Given the description of an element on the screen output the (x, y) to click on. 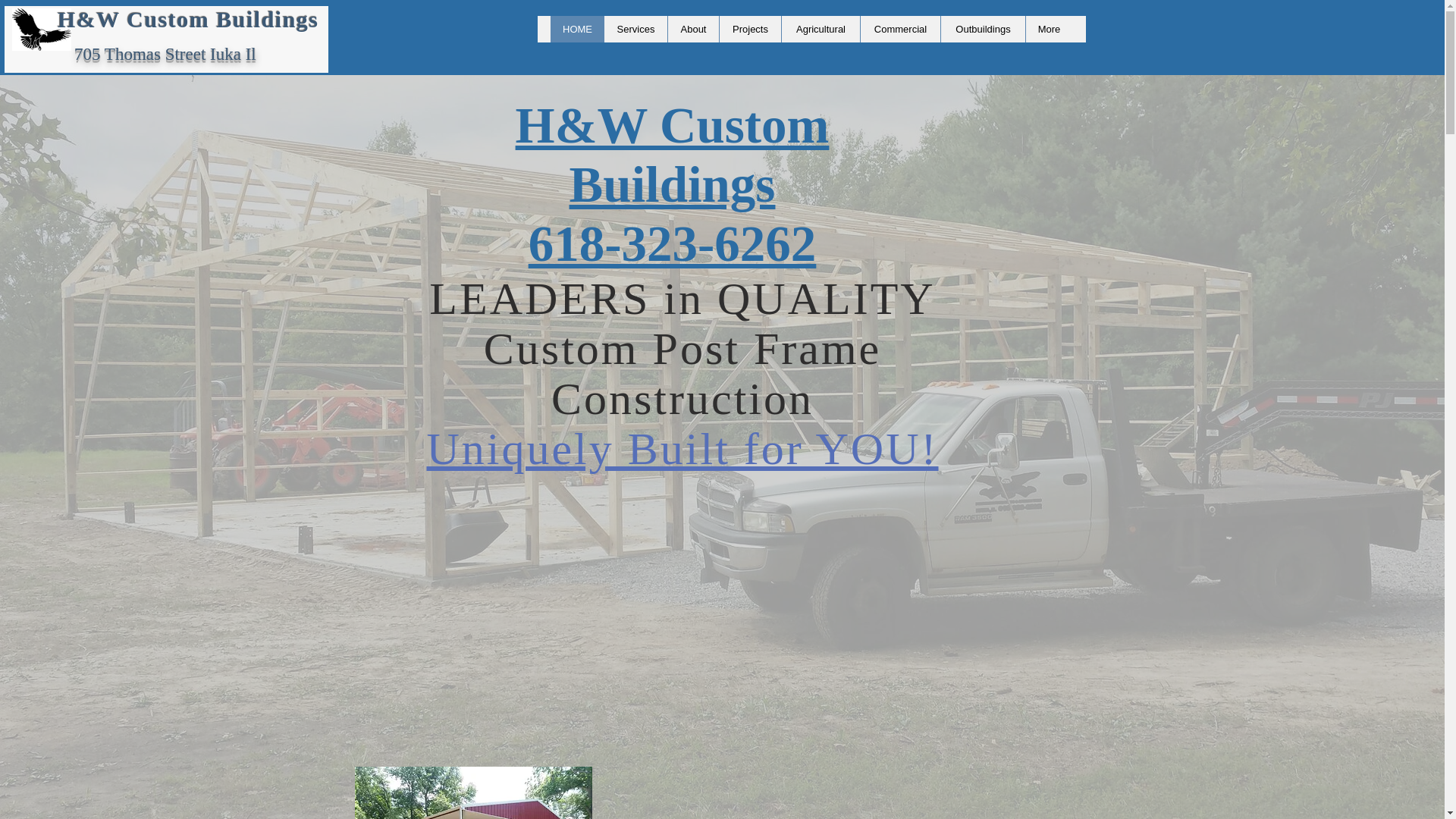
Services (635, 28)
Commercial (900, 28)
Agricultural (820, 28)
Projects (749, 28)
Outbuildings (982, 28)
About (692, 28)
HOME (577, 28)
